Given the description of an element on the screen output the (x, y) to click on. 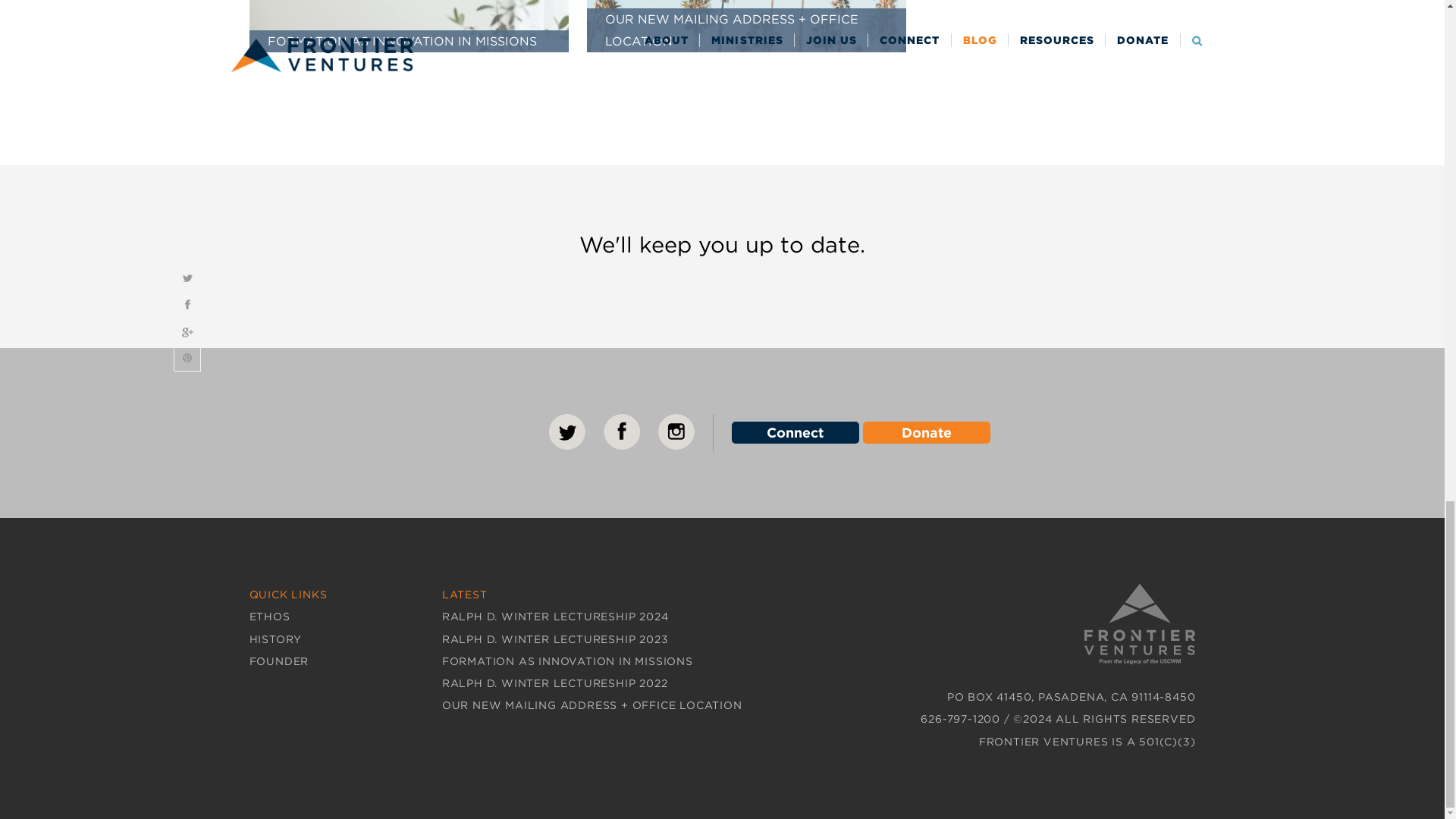
FORMATION AS INNOVATION IN MISSIONS (407, 27)
